Given the description of an element on the screen output the (x, y) to click on. 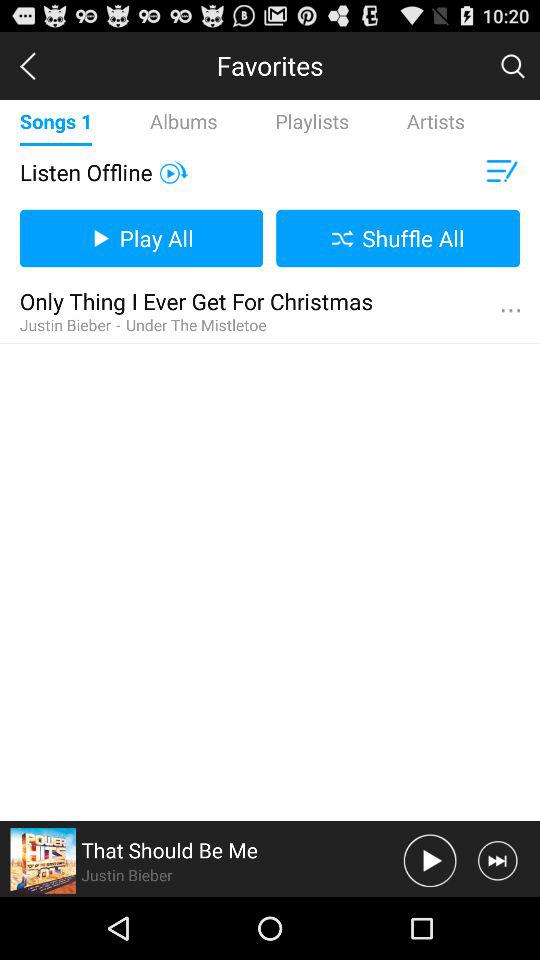
go to notes button (500, 172)
